Given the description of an element on the screen output the (x, y) to click on. 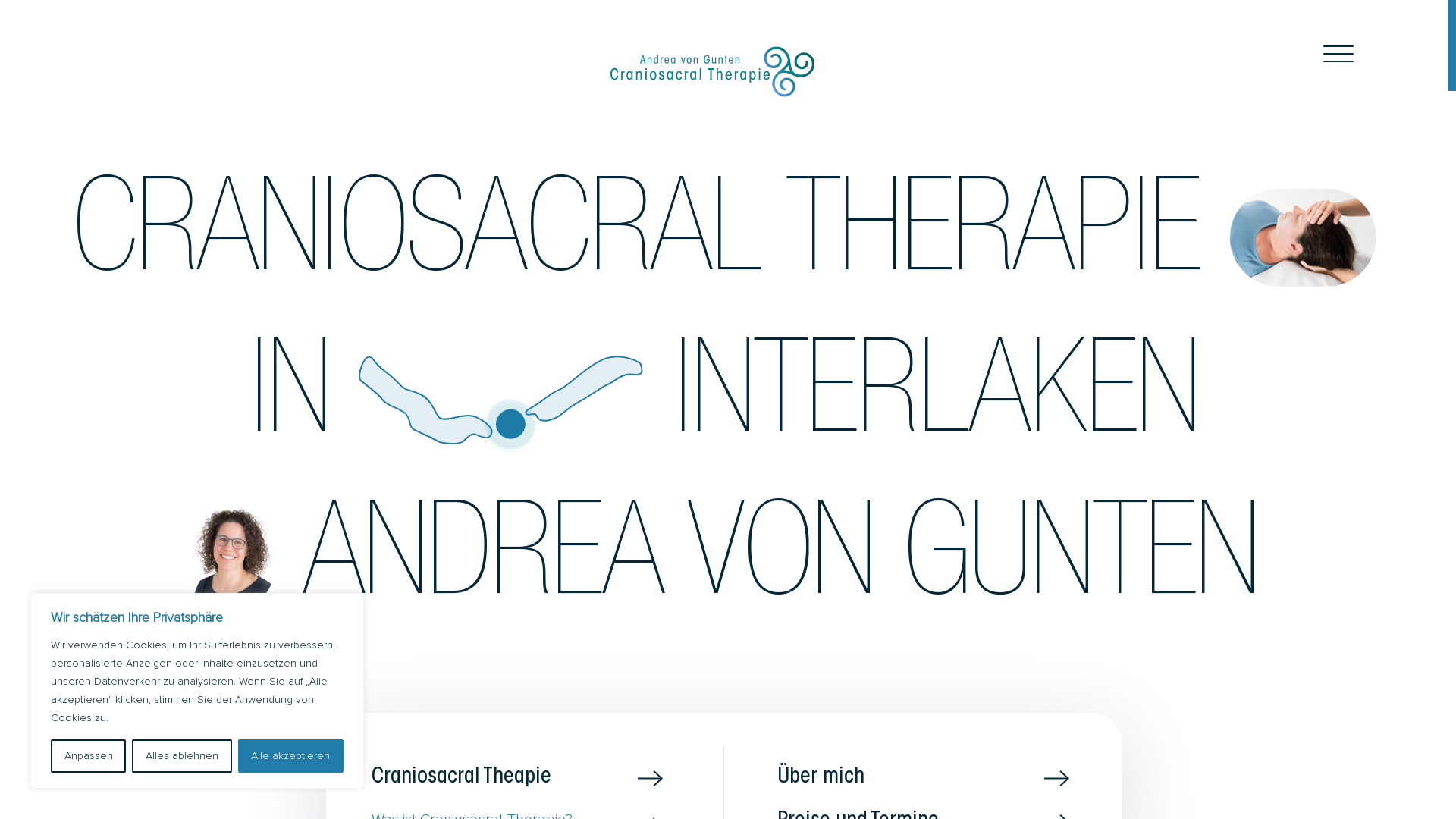
Craniosacral Theapie Element type: text (520, 777)
